Given the description of an element on the screen output the (x, y) to click on. 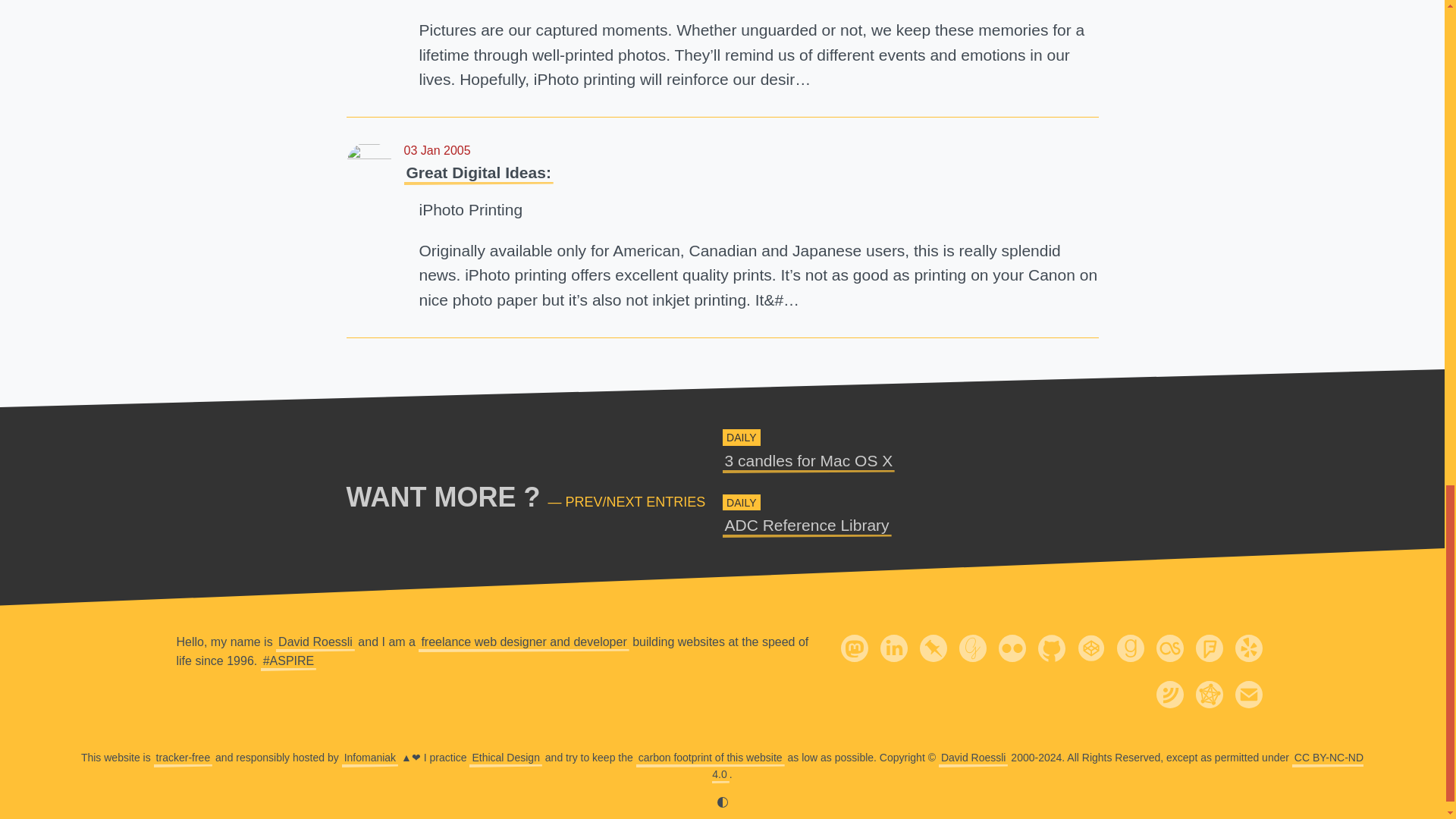
RSS Feed (1169, 694)
Mastodon (853, 647)
GoodReads (1129, 647)
Follow me on Mastodon (853, 647)
Discover Cybermedia Concepts (523, 641)
Read the previous post (1050, 647)
Foursquare (808, 460)
